Given the description of an element on the screen output the (x, y) to click on. 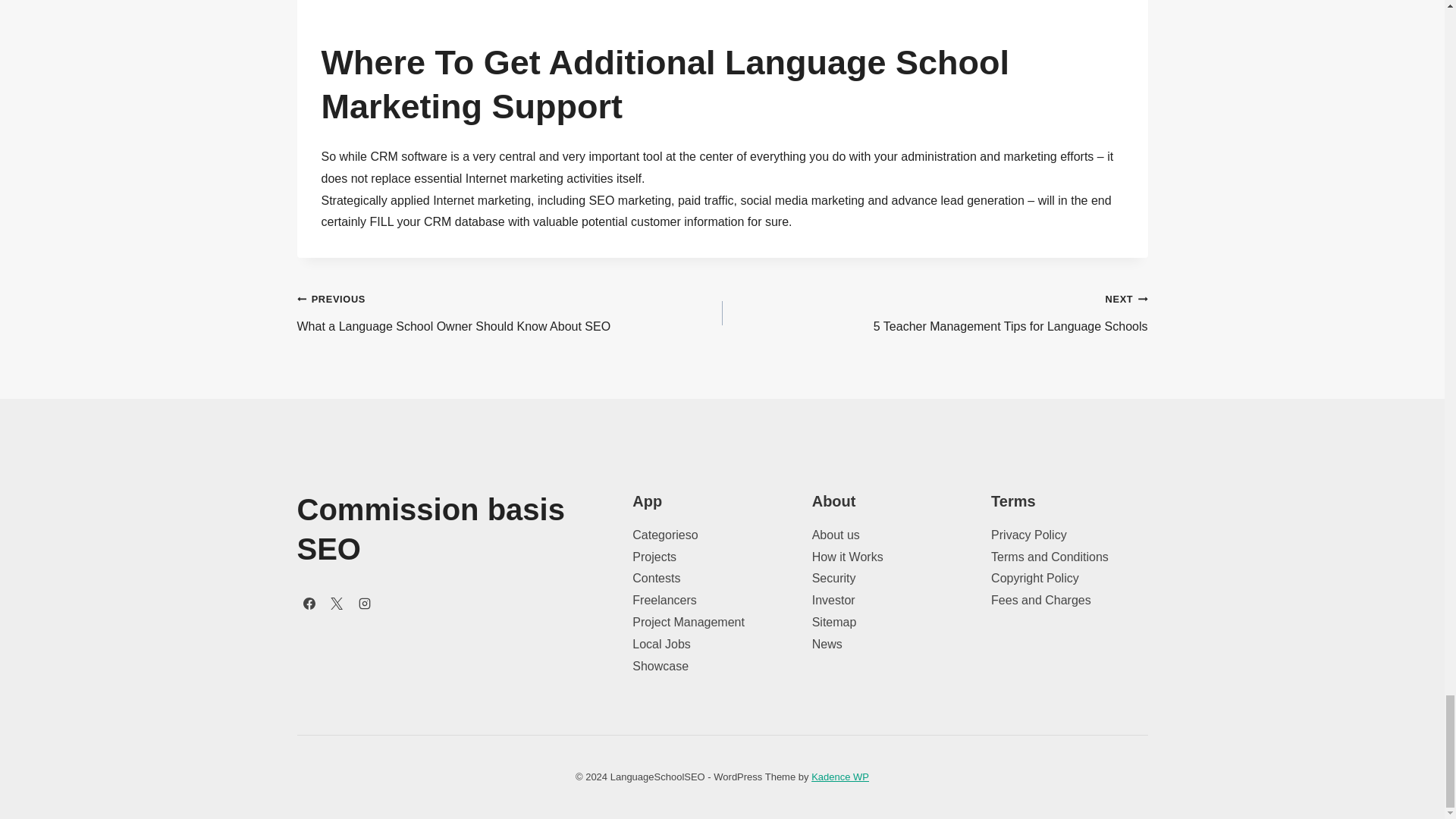
Kadence WP (839, 776)
Contests (655, 577)
Terms and Conditions (1049, 556)
How it Works (847, 556)
News (827, 644)
Showcase (934, 313)
Copyright Policy (659, 666)
Freelancers (509, 313)
Project Management (1034, 577)
Privacy Policy (663, 599)
Investor (687, 621)
Security (1029, 534)
Sitemap (834, 599)
